Given the description of an element on the screen output the (x, y) to click on. 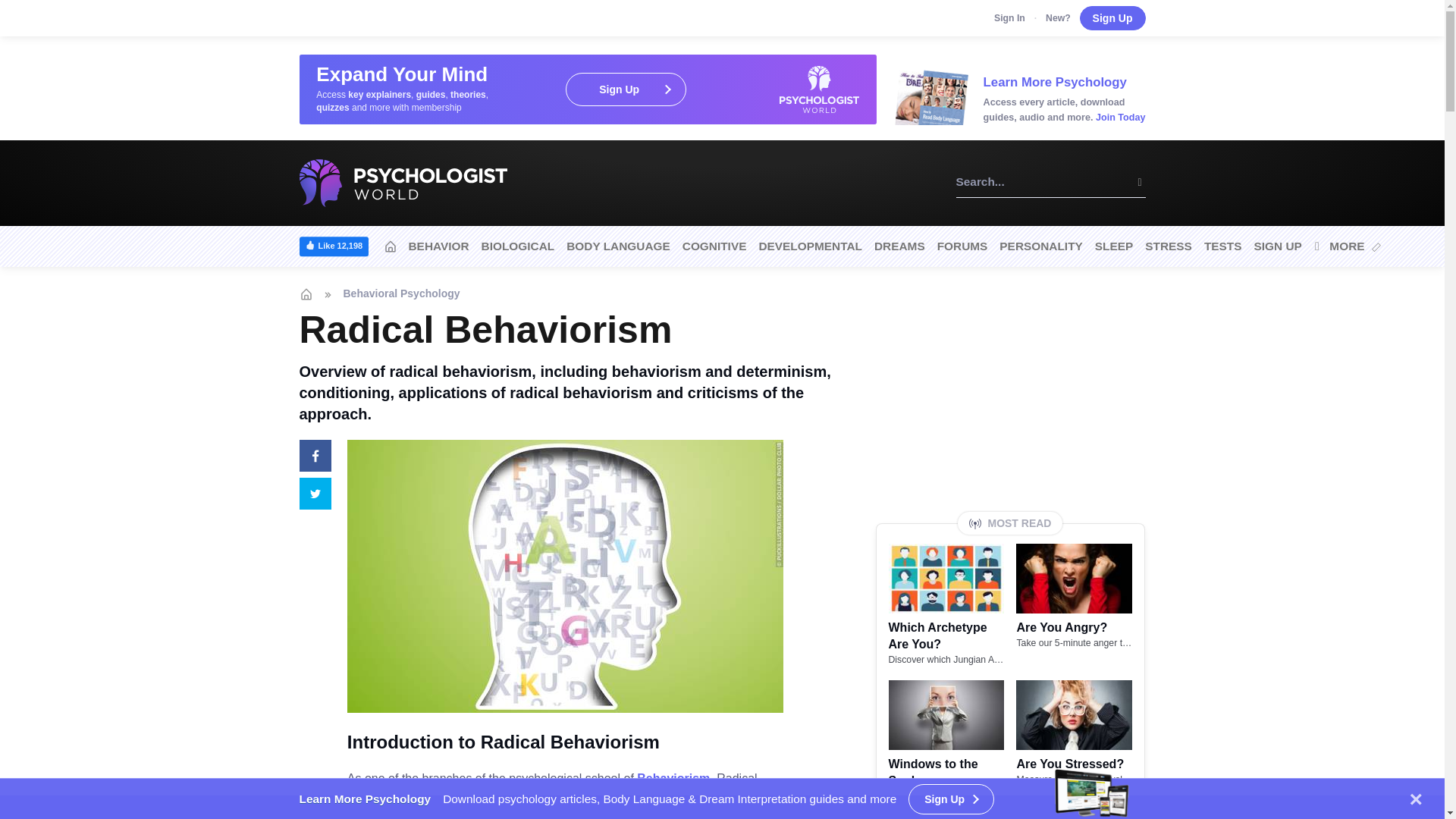
Sign Up (1112, 17)
PERSONALITY (1039, 246)
BODY LANGUAGE (618, 246)
  MORE (1346, 246)
Sign In (1009, 18)
Advertisement (1010, 399)
BEHAVIOR (437, 246)
COGNITIVE (714, 246)
Share on Facebook (311, 457)
FORUMS (962, 246)
SIGN UP (1277, 246)
Expand Your Mind (587, 89)
Like 12,198 (328, 246)
TESTS (1222, 246)
